Given the description of an element on the screen output the (x, y) to click on. 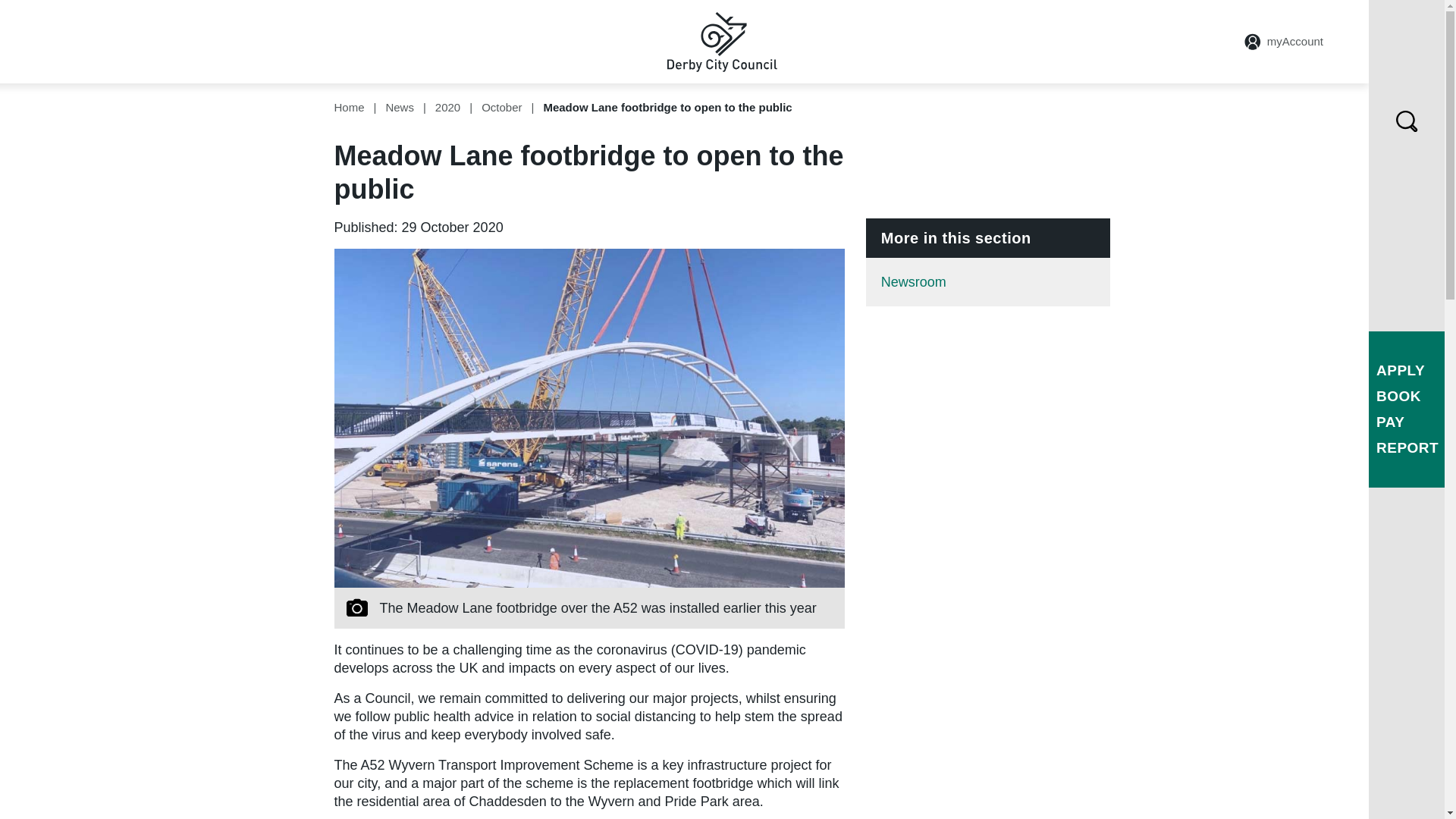
Home (348, 106)
News (399, 106)
Derby City Council logo (721, 40)
Derby City Council logo (721, 42)
BOOK (1398, 396)
October (501, 106)
2020 (447, 106)
APPLY (1400, 370)
myAccount (1283, 41)
REPORT (1406, 447)
